Given the description of an element on the screen output the (x, y) to click on. 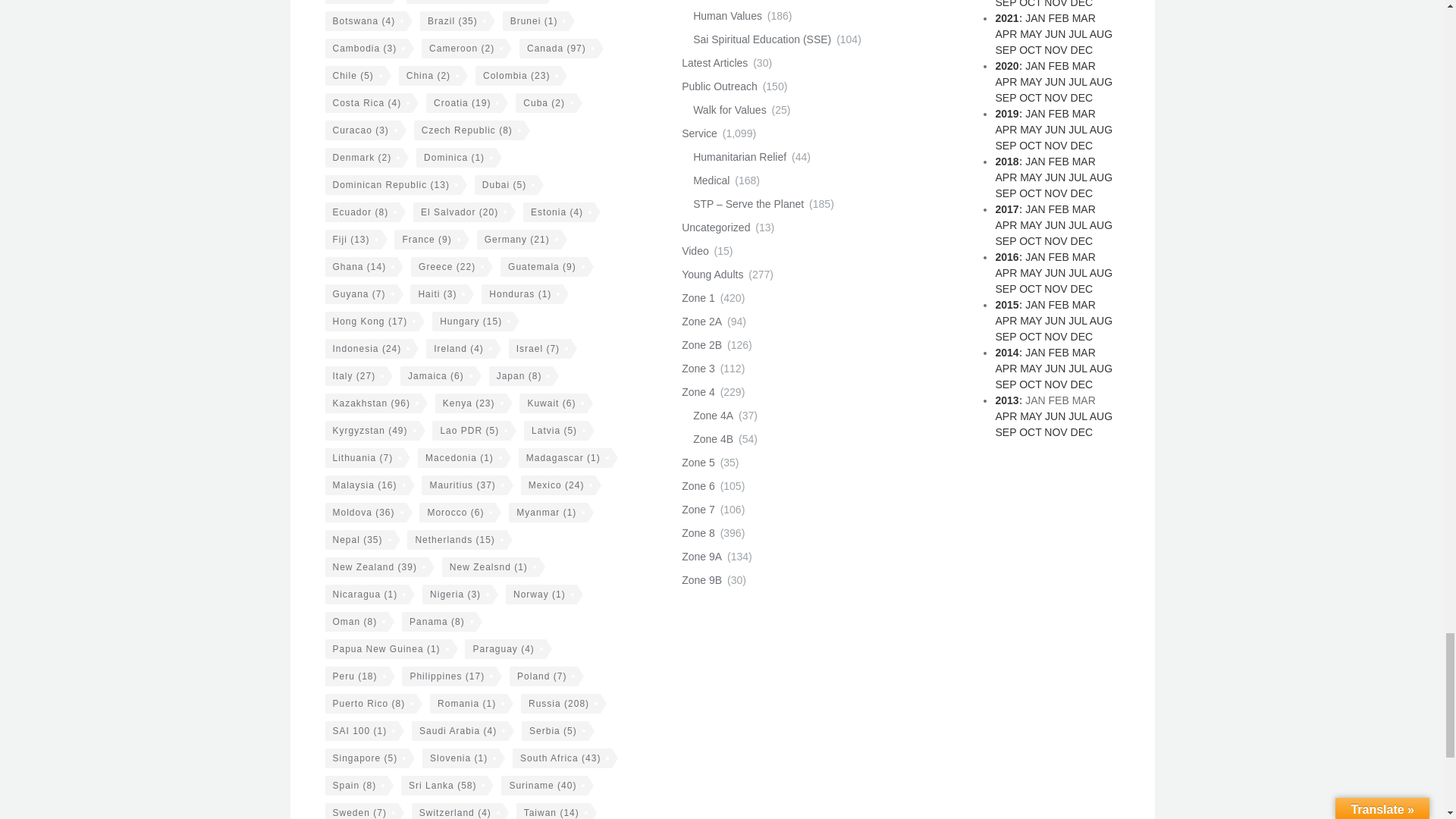
Newly added reports. (714, 62)
